Given the description of an element on the screen output the (x, y) to click on. 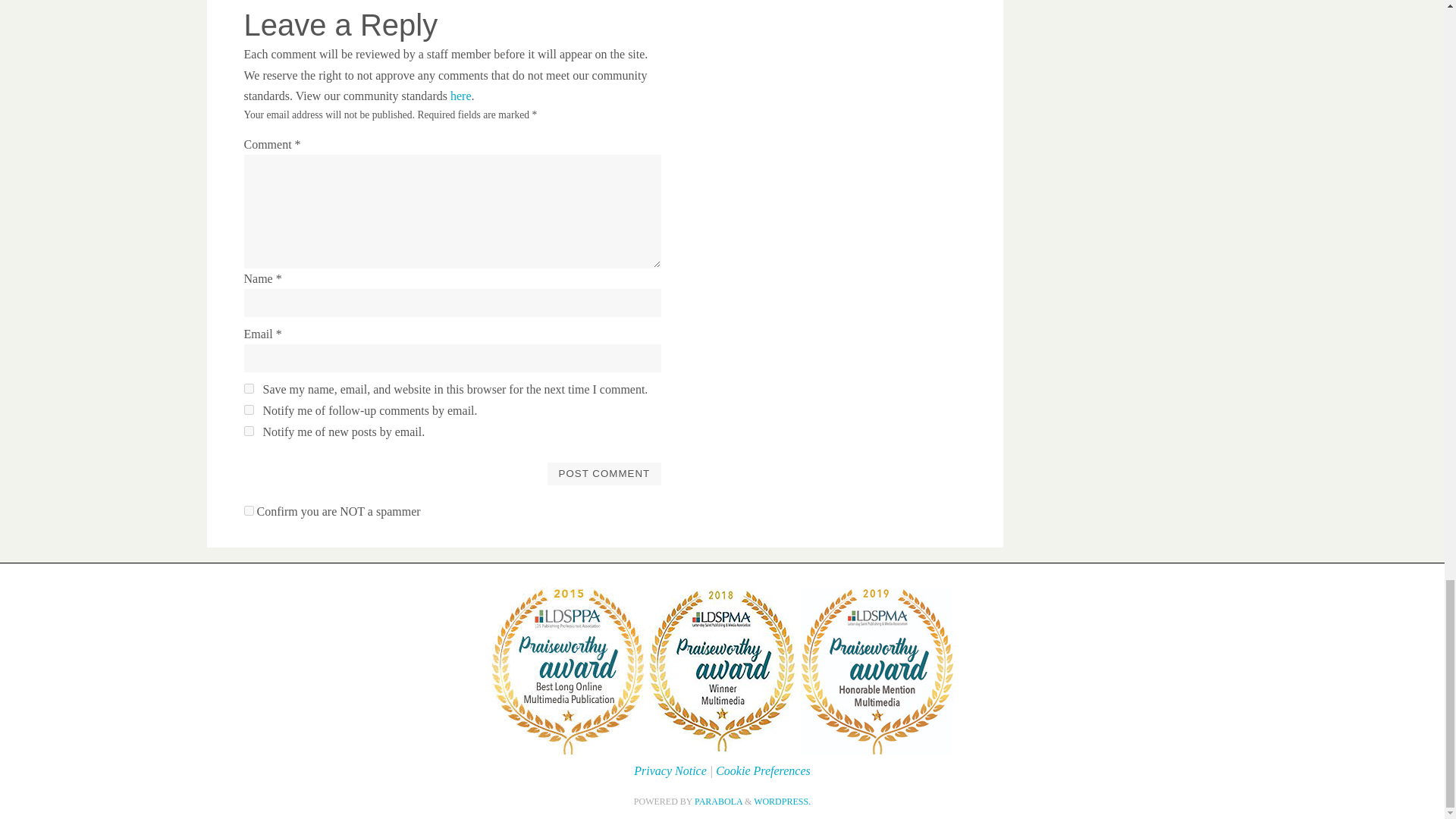
on (248, 510)
Post Comment (604, 473)
yes (248, 388)
subscribe (248, 409)
subscribe (248, 430)
